Given the description of an element on the screen output the (x, y) to click on. 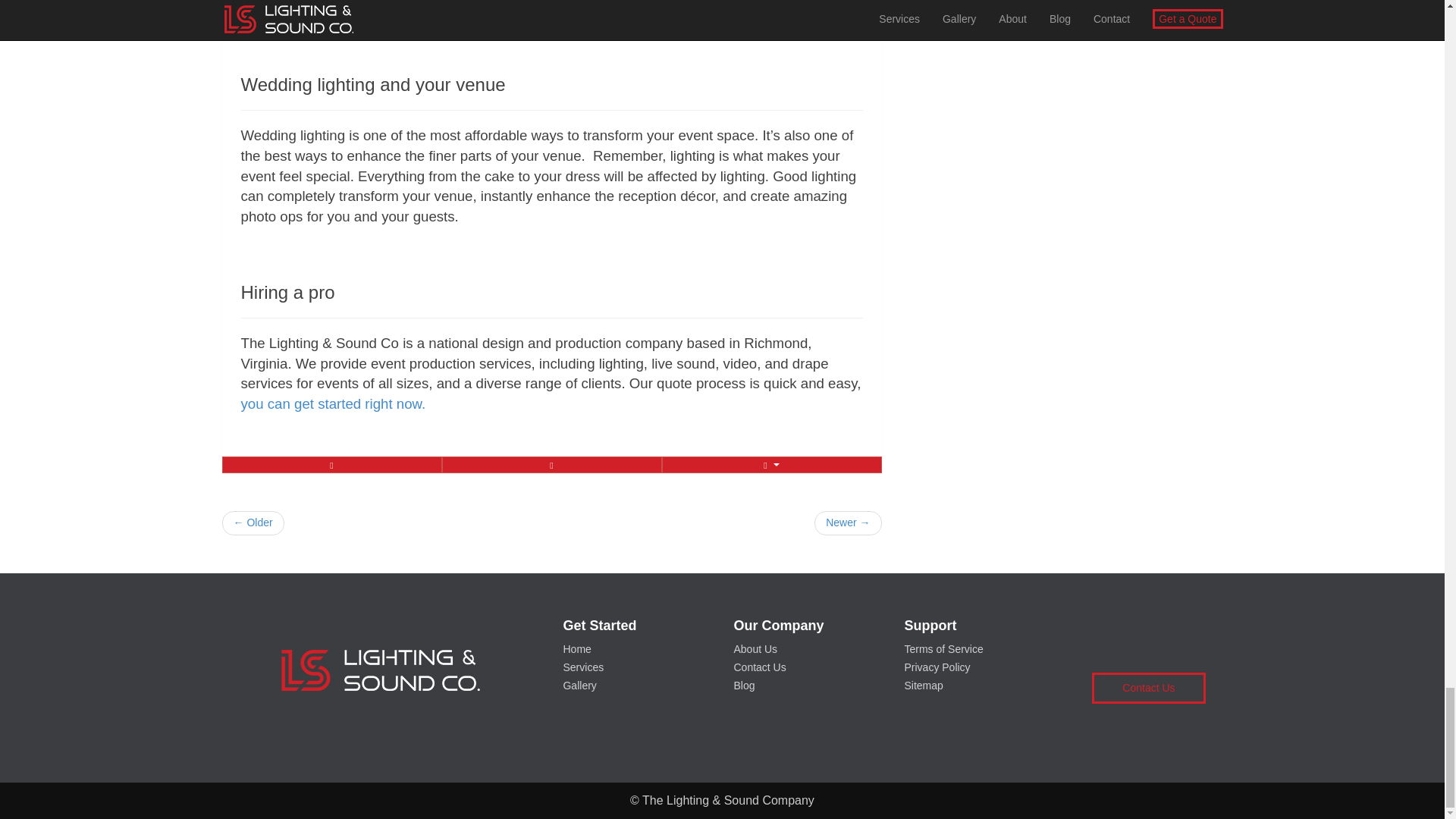
you can get started right now. (333, 403)
